Given the description of an element on the screen output the (x, y) to click on. 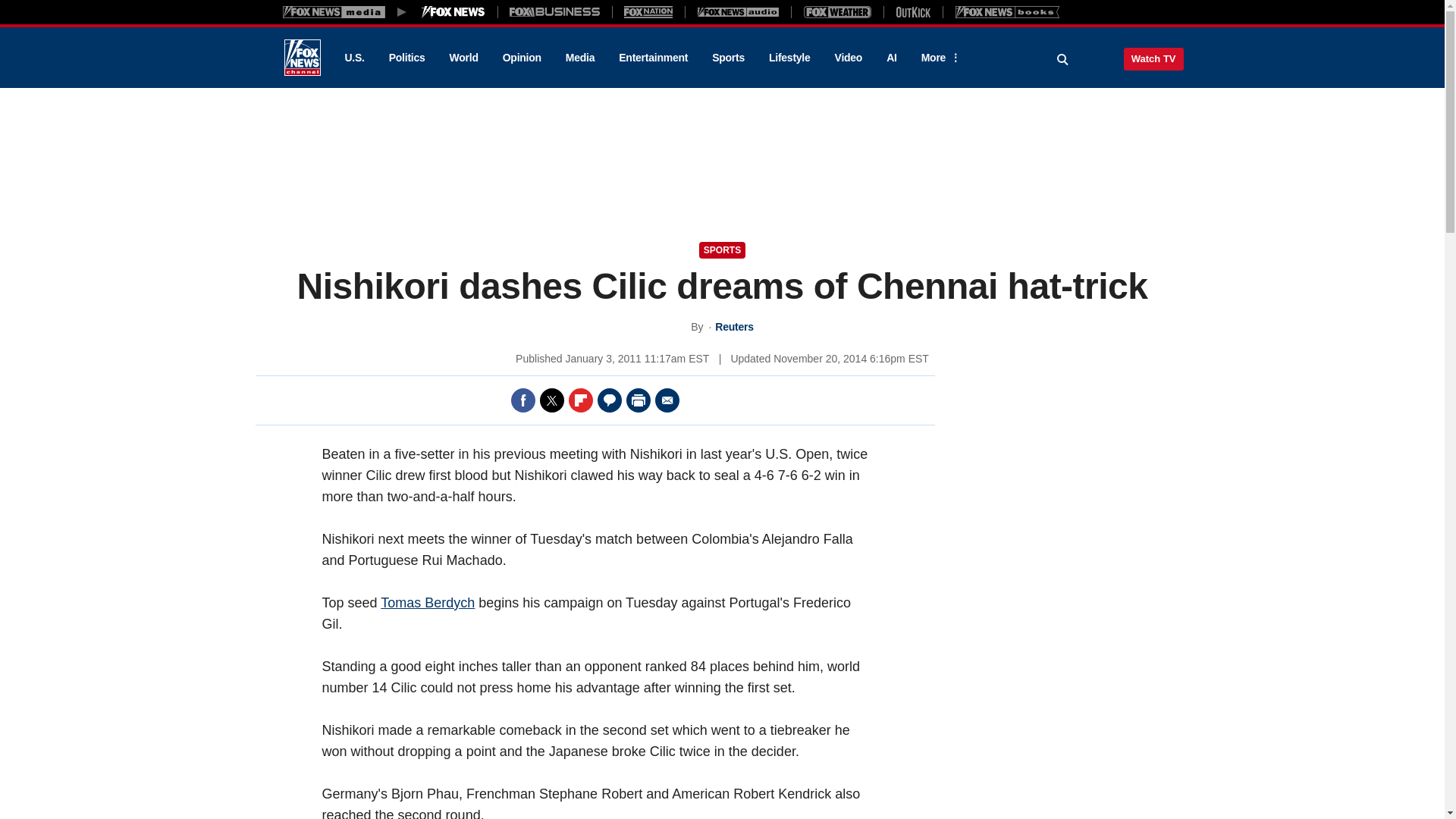
More (938, 57)
Lifestyle (789, 57)
Fox Business (554, 11)
AI (891, 57)
Fox Nation (648, 11)
Entertainment (653, 57)
Books (1007, 11)
Watch TV (1153, 58)
Video (848, 57)
Fox News Audio (737, 11)
